Given the description of an element on the screen output the (x, y) to click on. 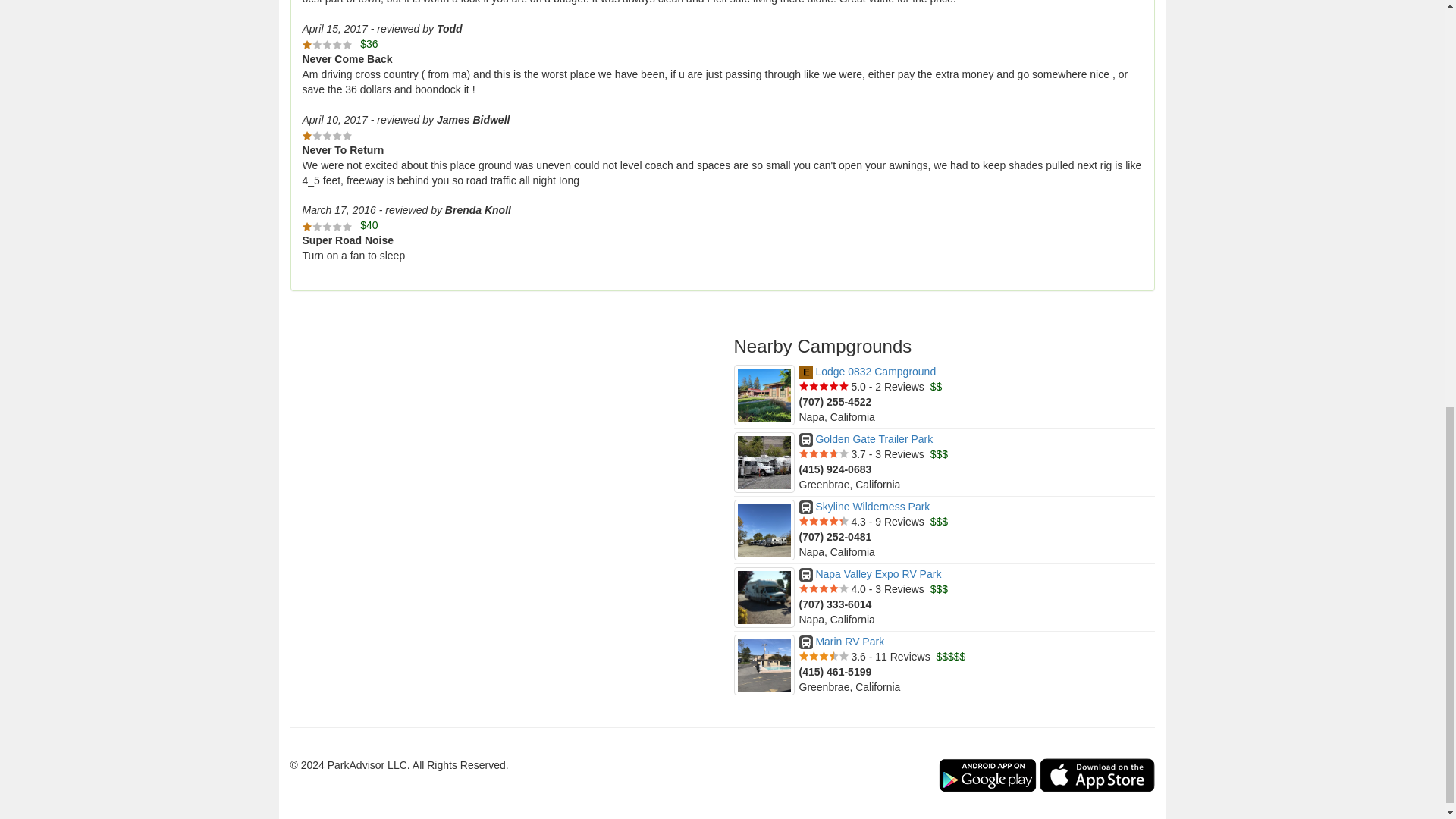
 Golden Gate Trailer Park (866, 439)
 Skyline Wilderness Park (864, 506)
 Marin RV Park (842, 641)
 Lodge 0832 Campground (867, 371)
 Napa Valley Expo RV Park (870, 573)
